Given the description of an element on the screen output the (x, y) to click on. 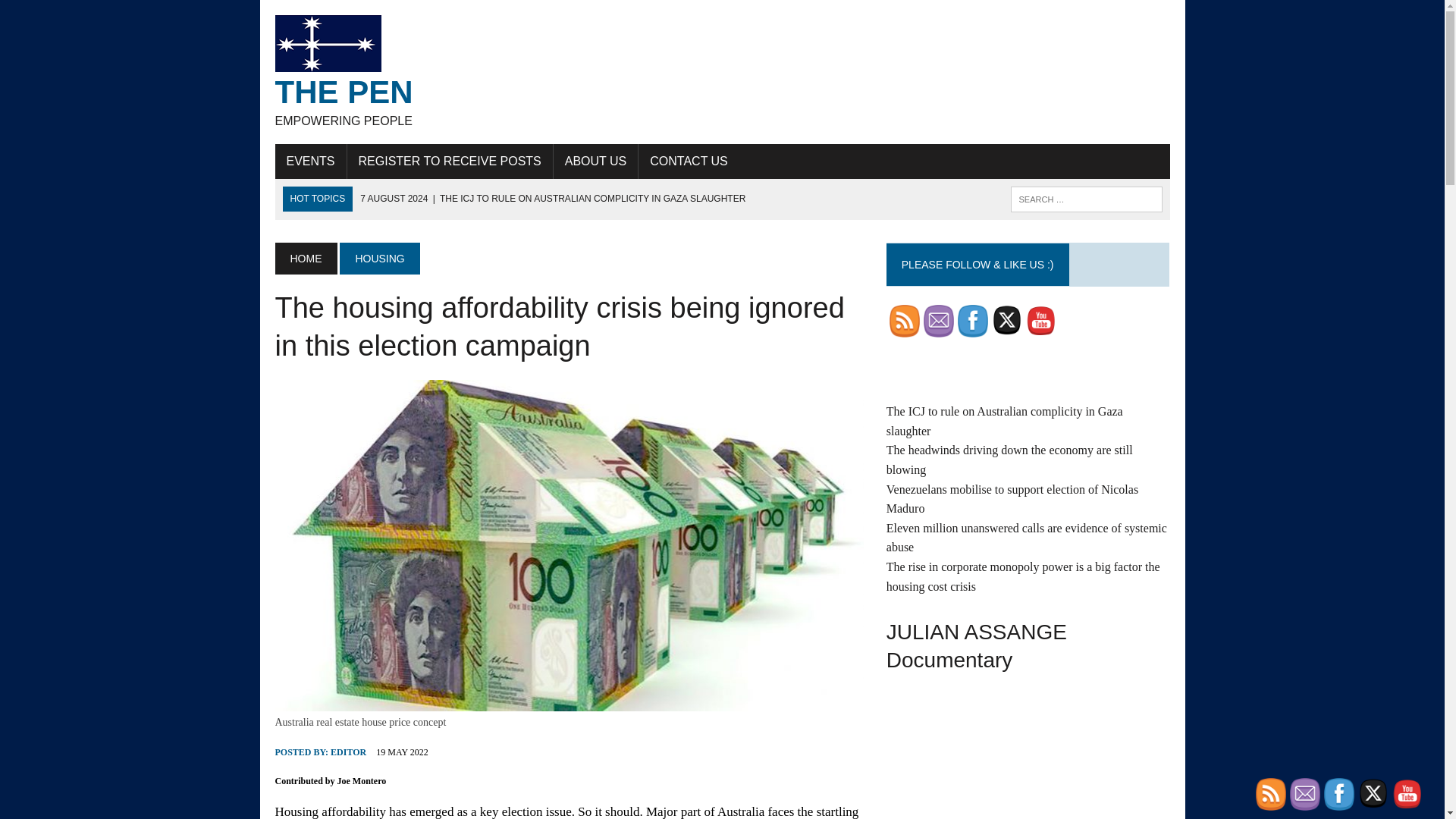
Search (75, 14)
ABOUT US (596, 161)
The ICJ to rule on Australian complicity in Gaza slaughter (552, 198)
Twitter (1006, 319)
CONTACT US (689, 161)
Follow by Email (938, 320)
HOME (305, 258)
HOUSING (379, 258)
EVENTS (310, 161)
EDITOR (348, 751)
